Given the description of an element on the screen output the (x, y) to click on. 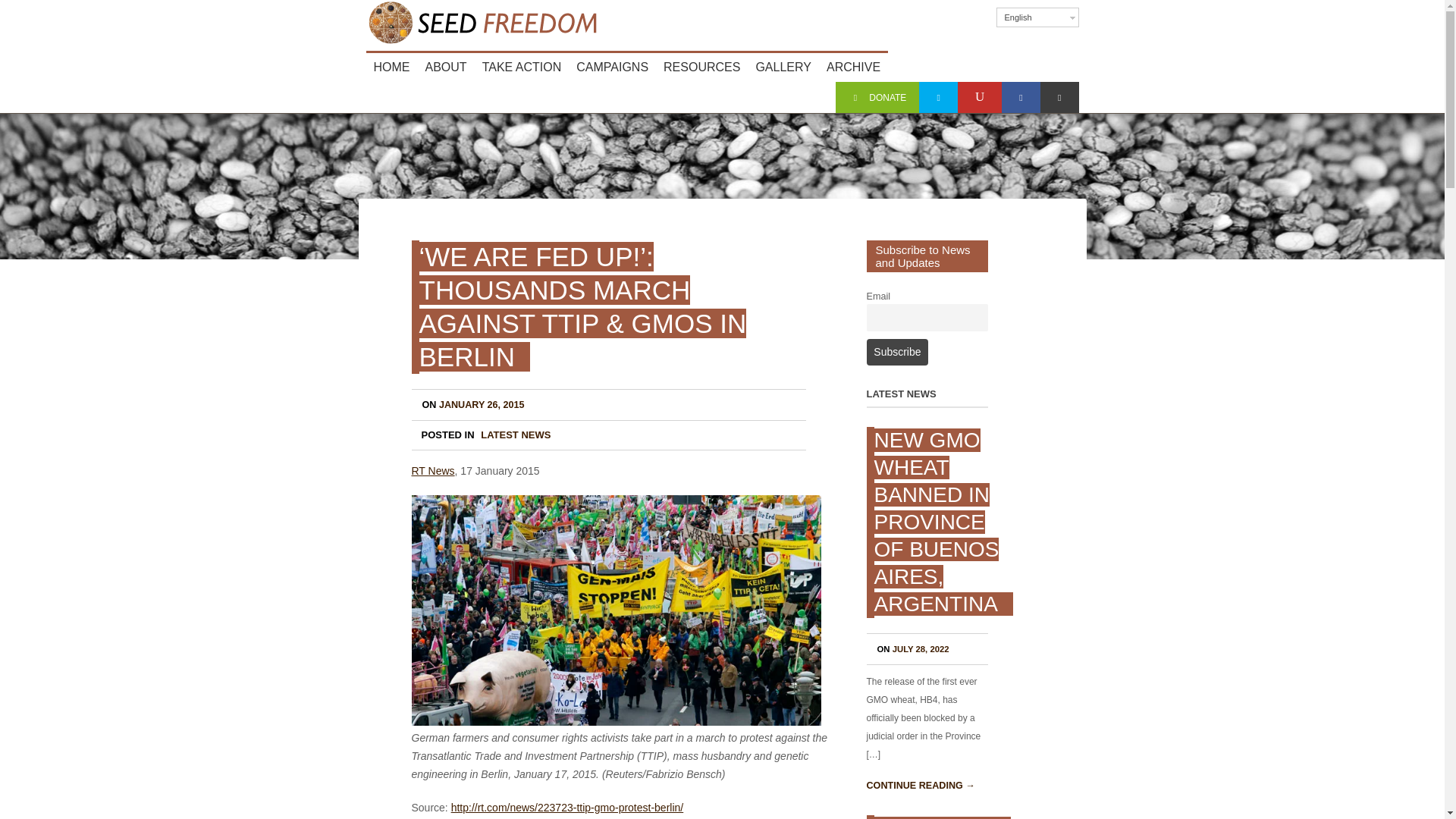
English (1036, 17)
RESOURCES (702, 67)
TAKE ACTION (521, 67)
ABOUT (445, 67)
CAMPAIGNS (612, 67)
HOME (390, 67)
Subscribe (897, 352)
